Given the description of an element on the screen output the (x, y) to click on. 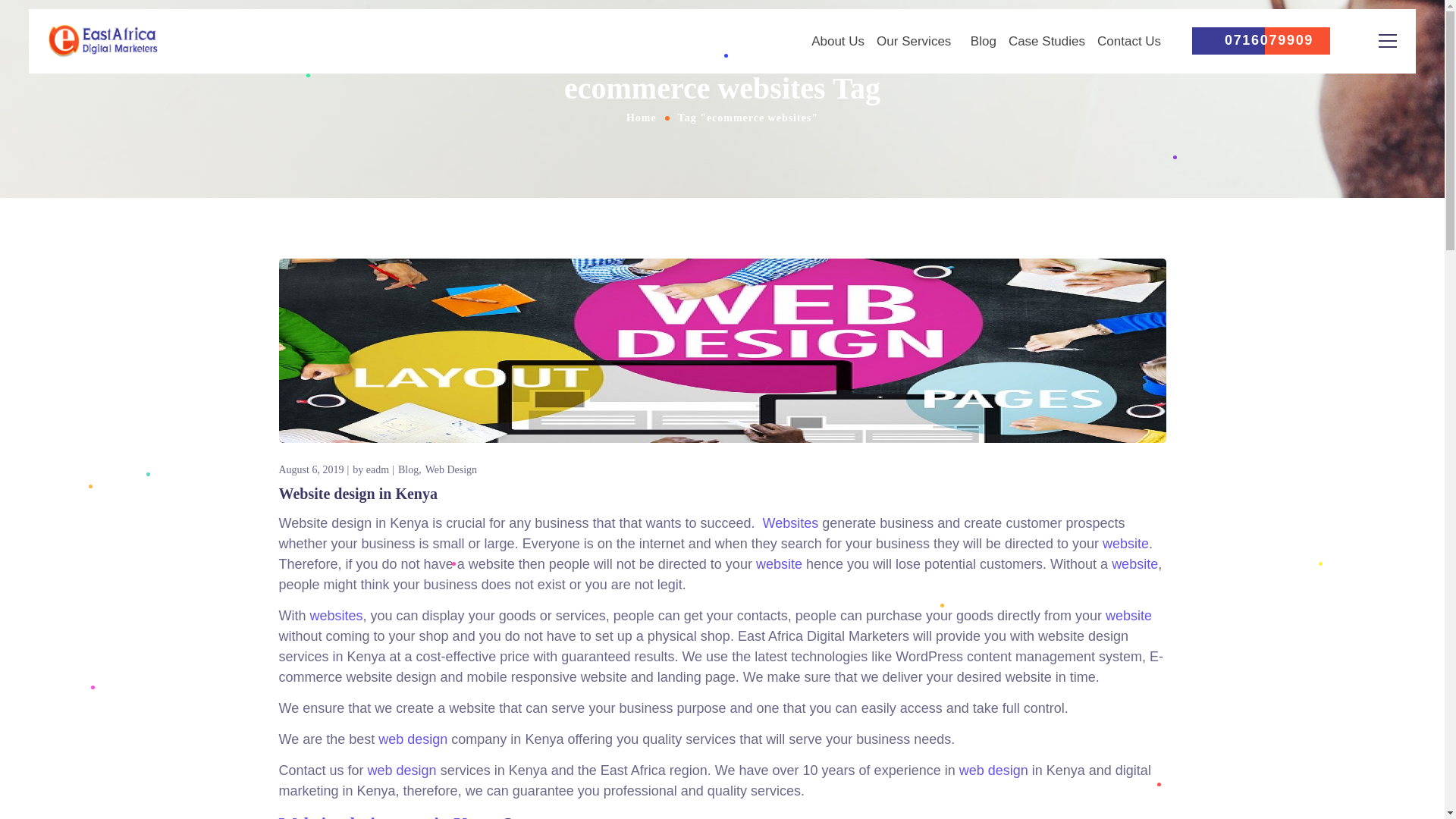
websites (336, 615)
Website design in Kenya (358, 493)
Contact Us (1128, 41)
Our Services (917, 41)
web design (993, 770)
website (778, 563)
web design (410, 739)
Case Studies (1046, 41)
Website design cost in Kenya (391, 816)
eadm (377, 469)
Websites (788, 522)
Search (1339, 81)
website (1134, 563)
website (1128, 615)
0716079909 (1260, 40)
